Given the description of an element on the screen output the (x, y) to click on. 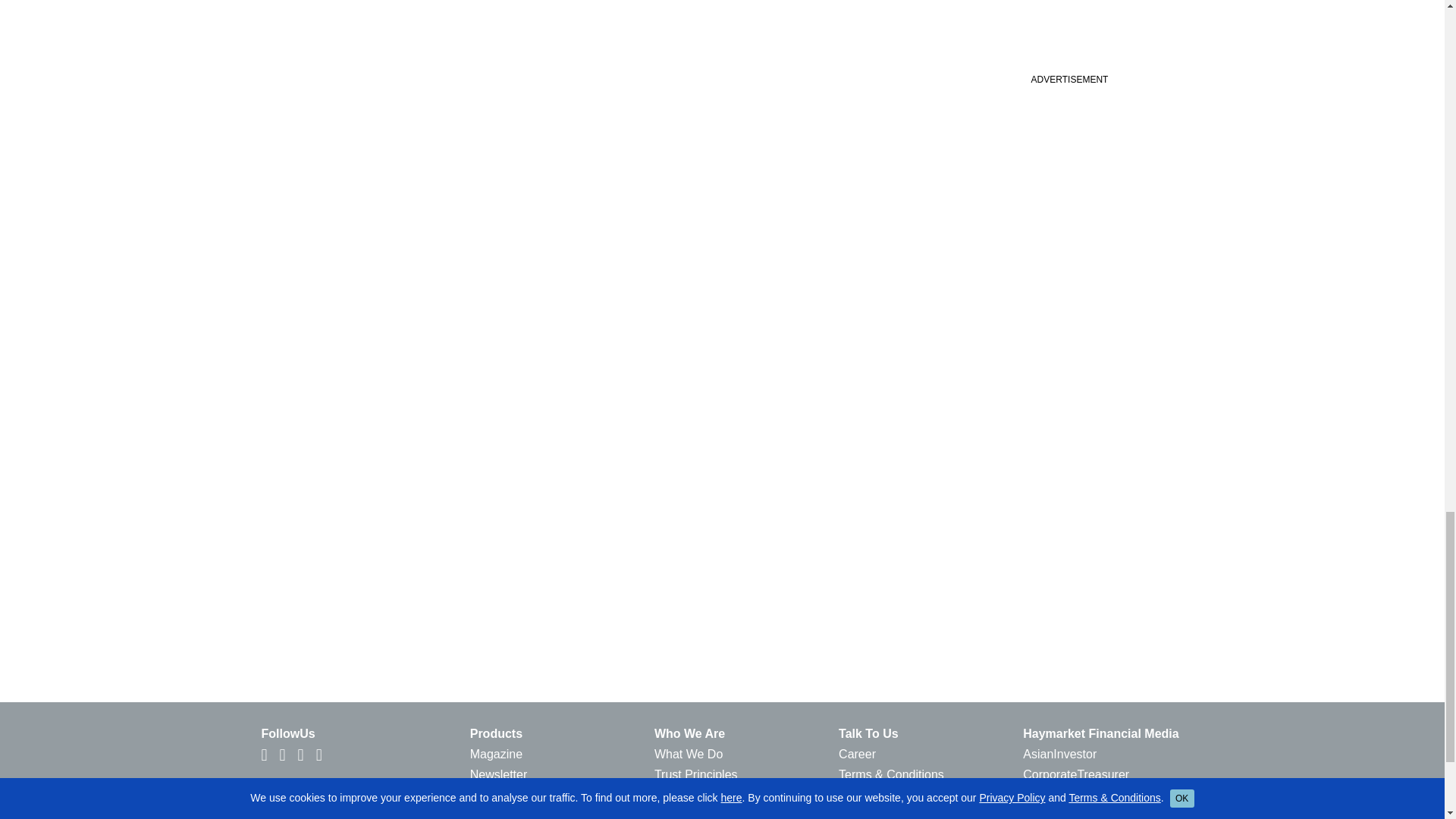
3rd party ad content (1068, 116)
